Given the description of an element on the screen output the (x, y) to click on. 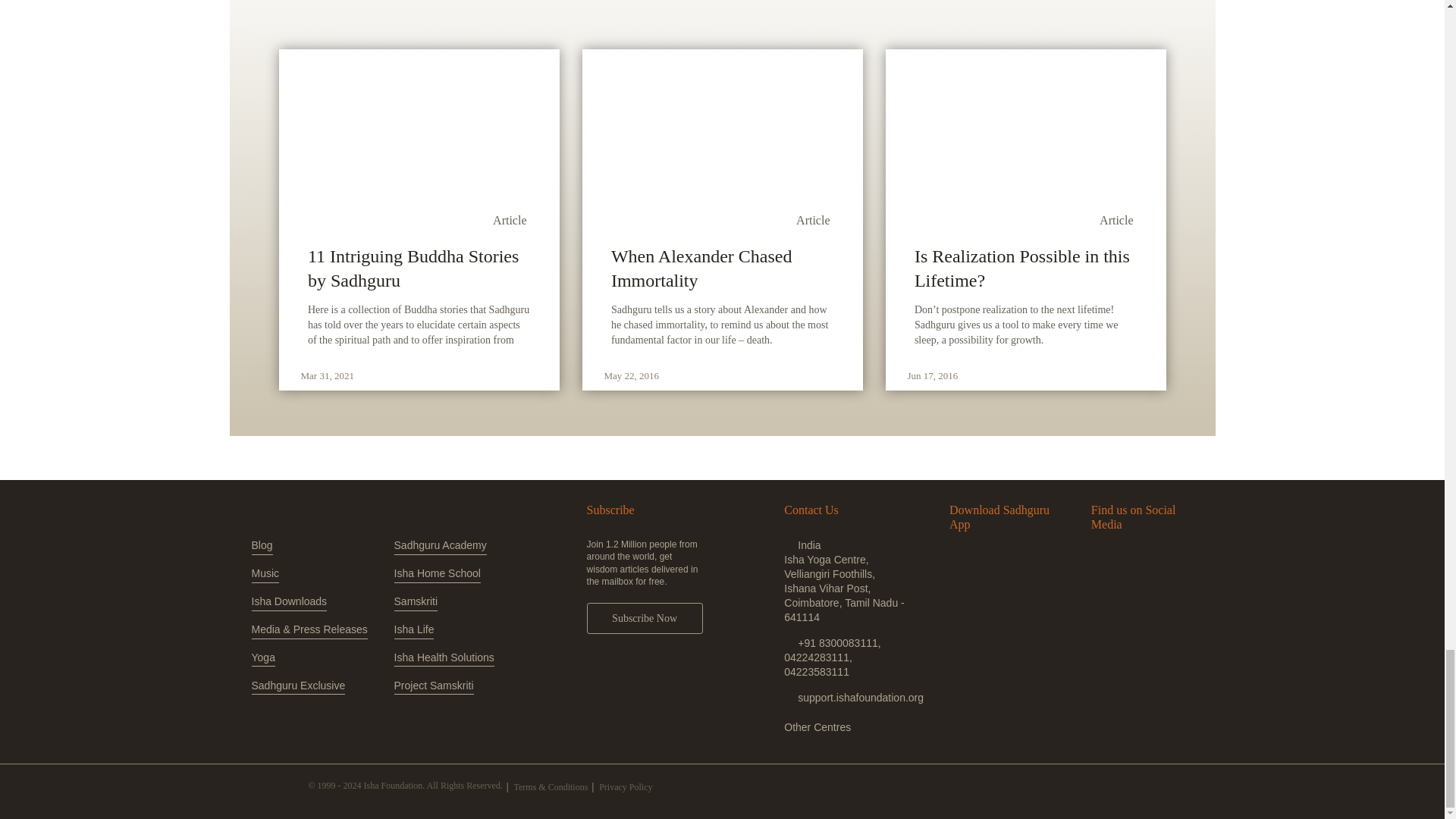
11 Intriguing Buddha Stories by Sadhguru (418, 267)
When Alexander Chased Immortality (721, 267)
Is Realization Possible in this Lifetime? (1025, 267)
